Given the description of an element on the screen output the (x, y) to click on. 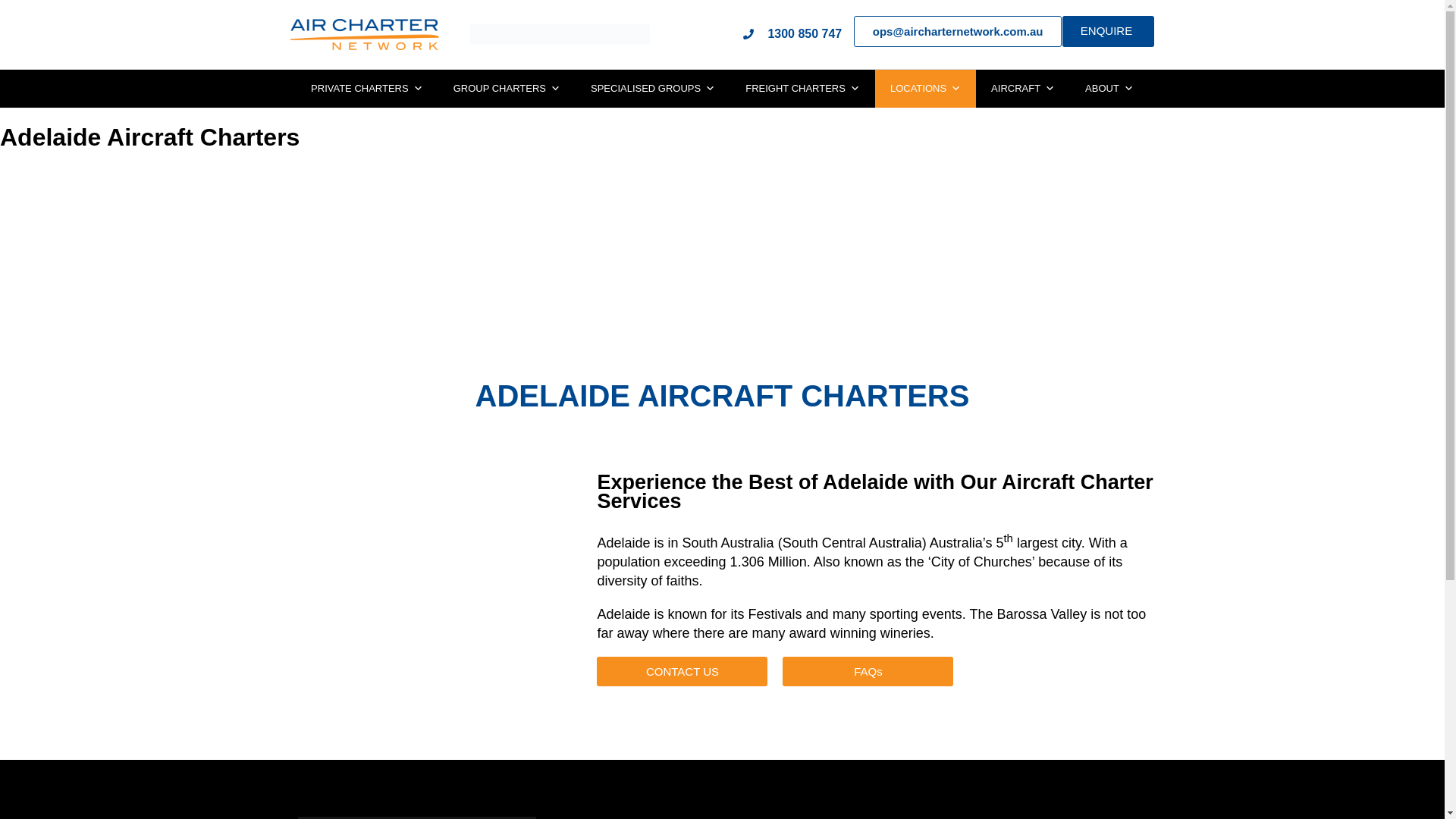
LOCATIONS (925, 88)
GROUP CHARTERS (506, 88)
SPECIALISED GROUPS (652, 88)
1300 850 747 (791, 33)
FREIGHT CHARTERS (802, 88)
ENQUIRE (1108, 30)
PRIVATE CHARTERS (366, 88)
